Given the description of an element on the screen output the (x, y) to click on. 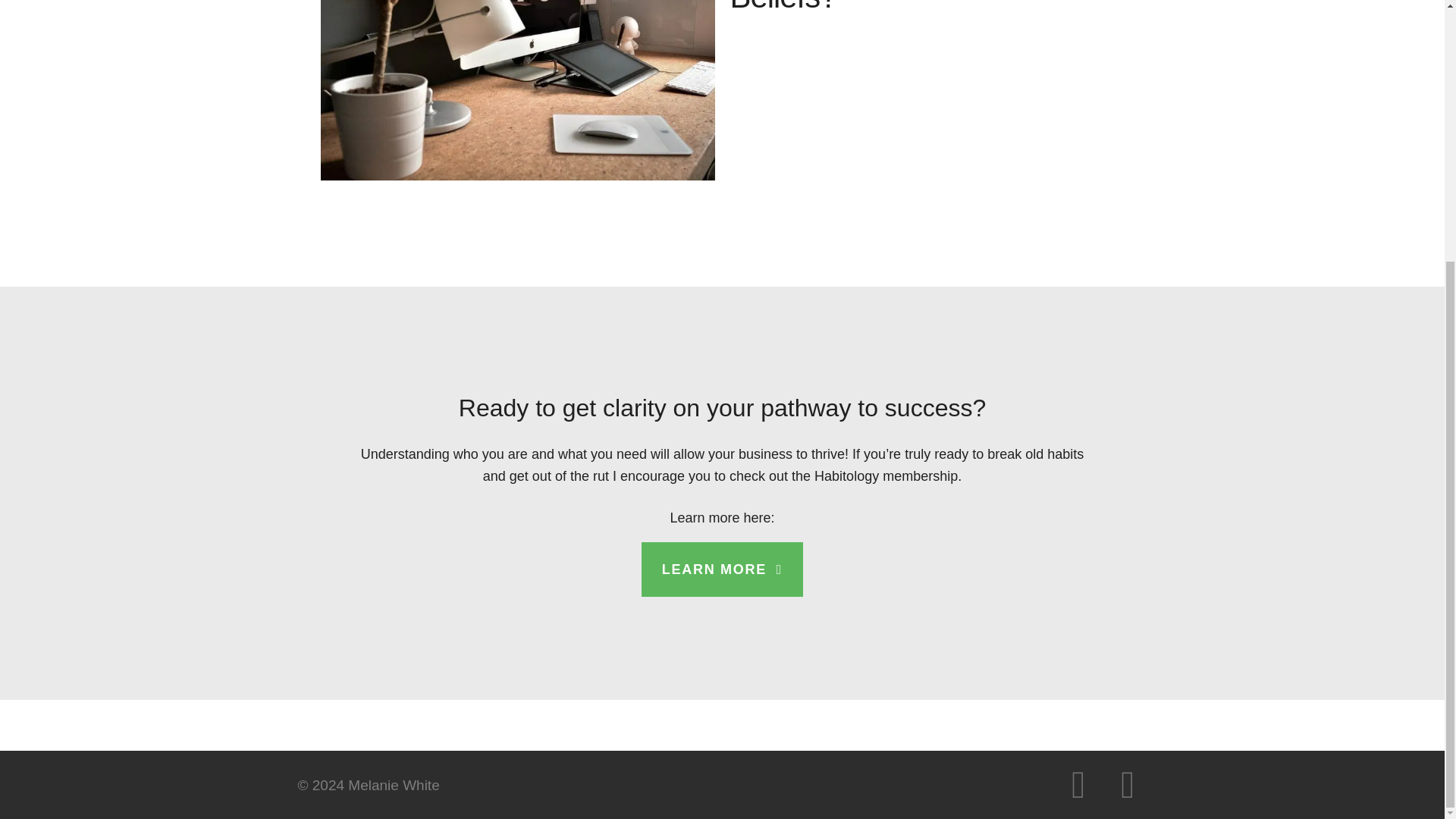
LEARN MORE (722, 569)
